Given the description of an element on the screen output the (x, y) to click on. 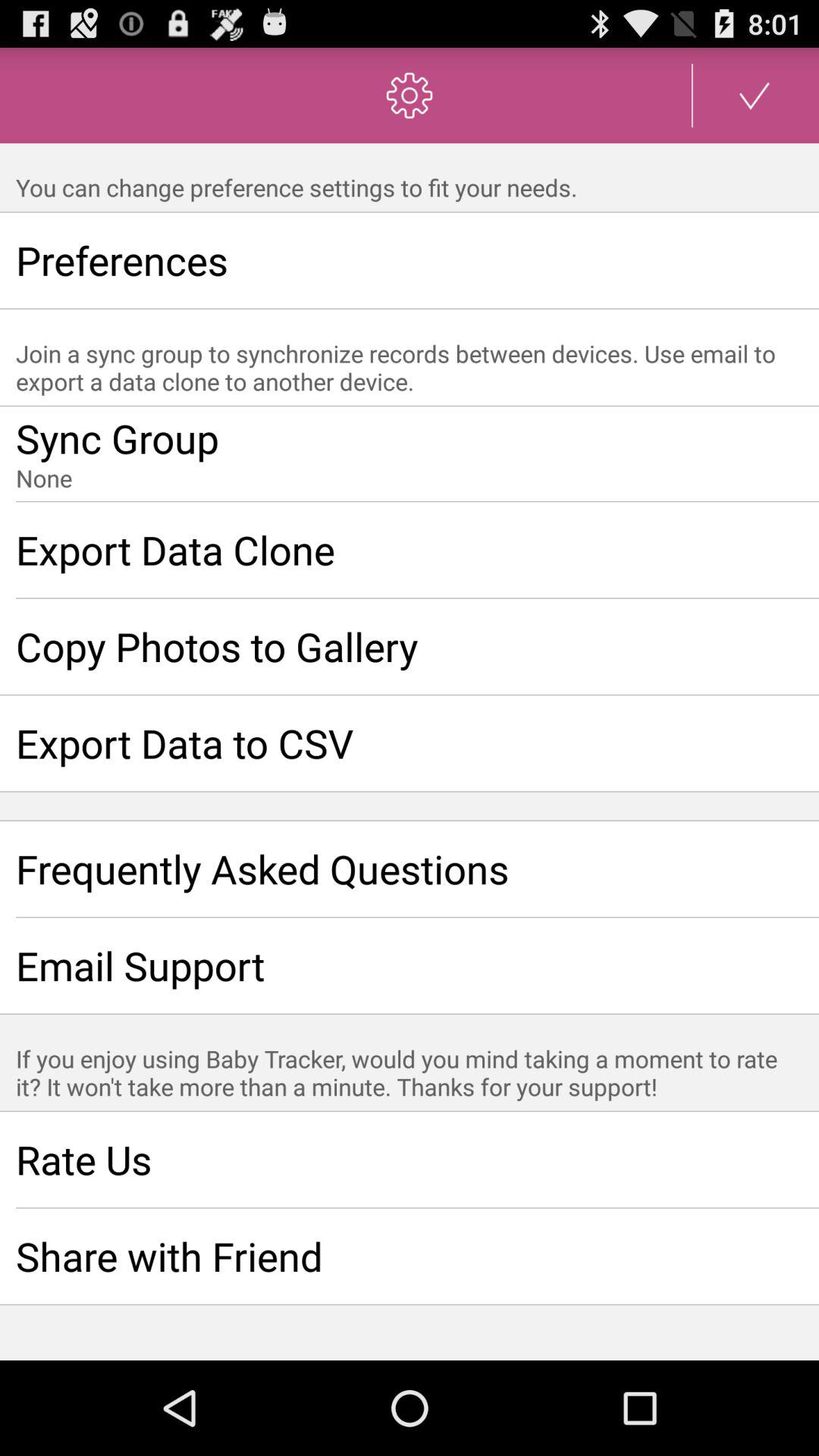
sync group (409, 454)
